Given the description of an element on the screen output the (x, y) to click on. 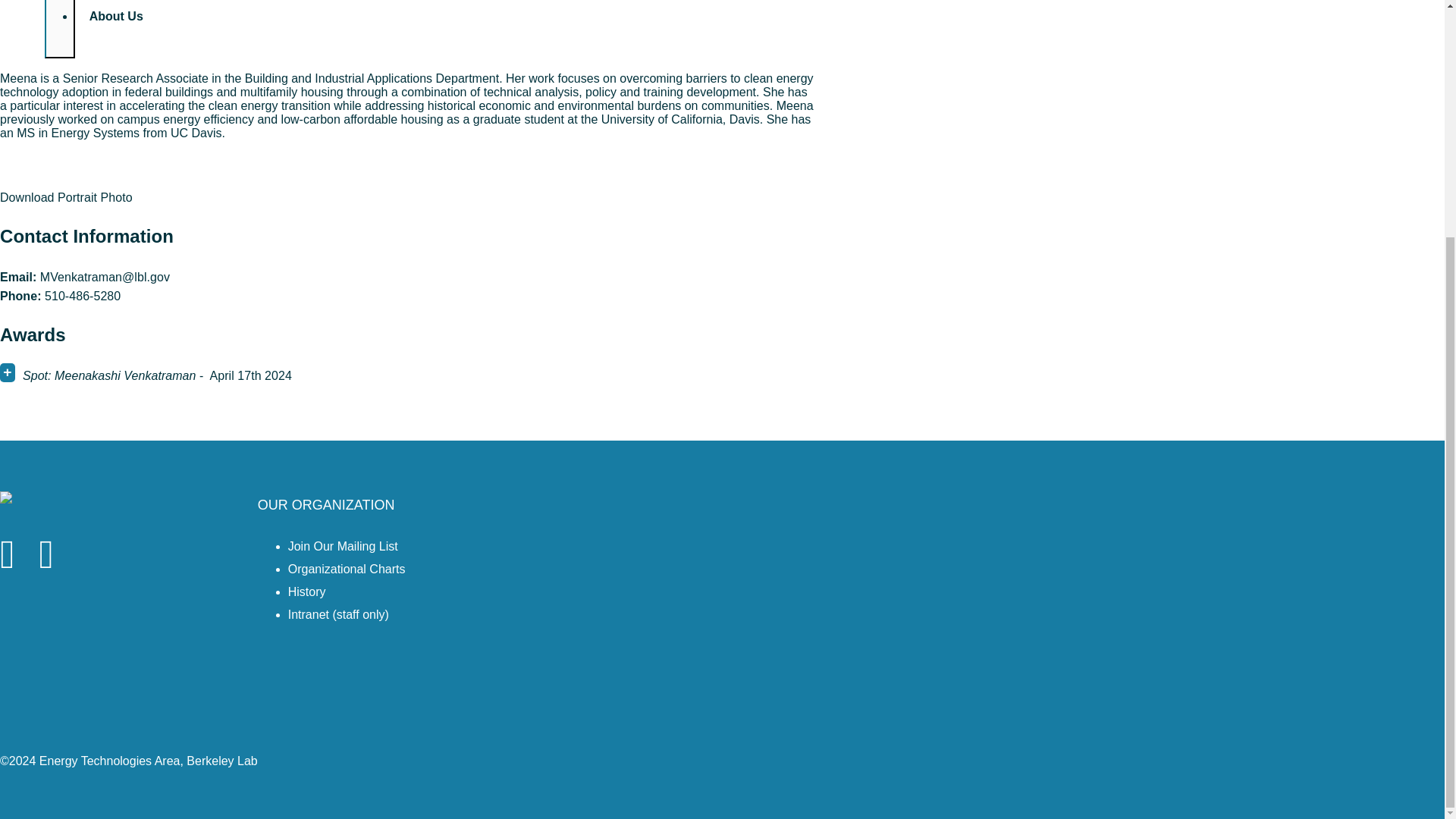
About Us (145, 22)
Meenakshi Venkatraman (72, 64)
Meenakshi Venkatraman (66, 196)
